Given the description of an element on the screen output the (x, y) to click on. 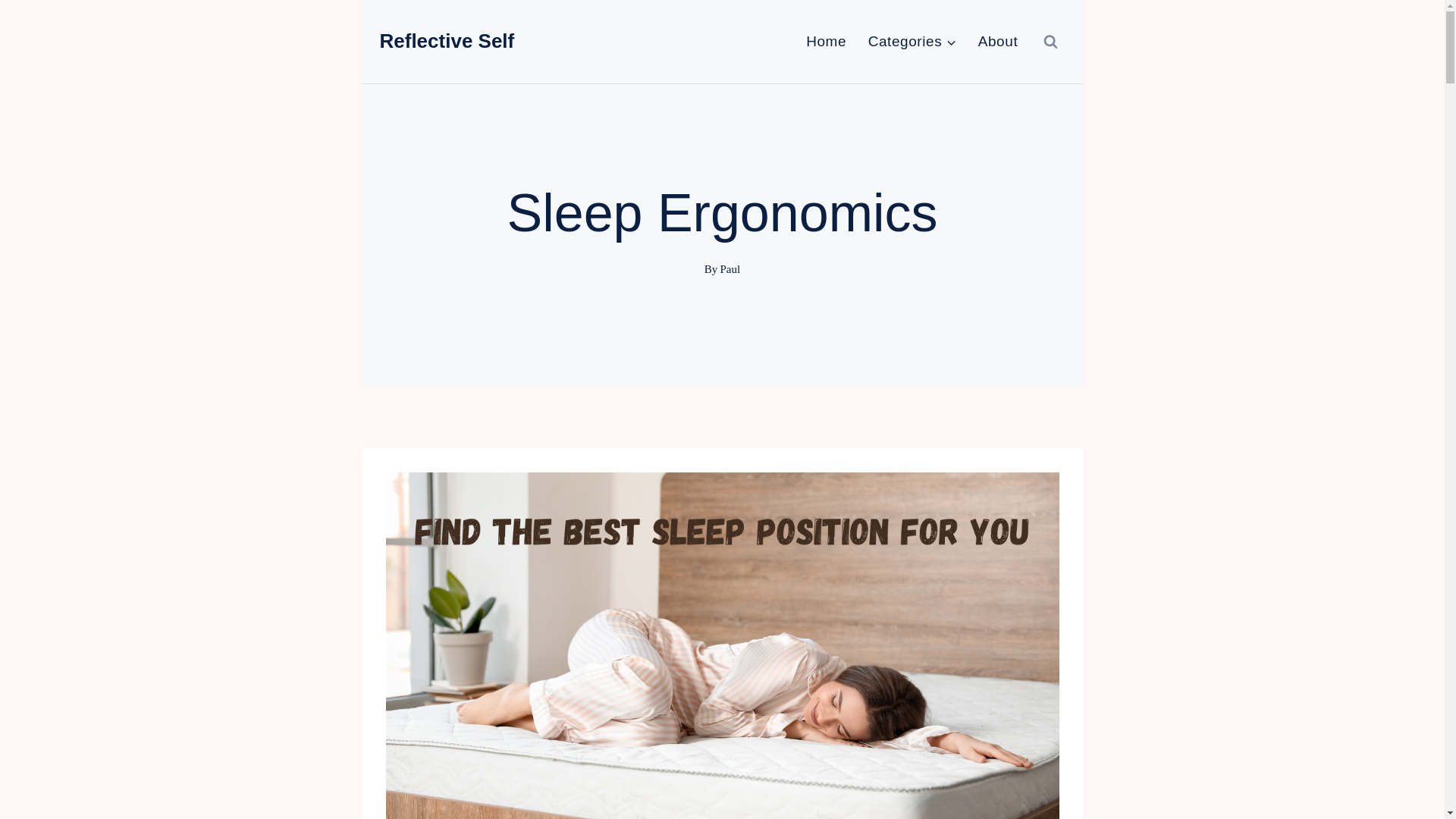
About (996, 41)
Home (825, 41)
Categories (911, 41)
Reflective Self (445, 41)
